Given the description of an element on the screen output the (x, y) to click on. 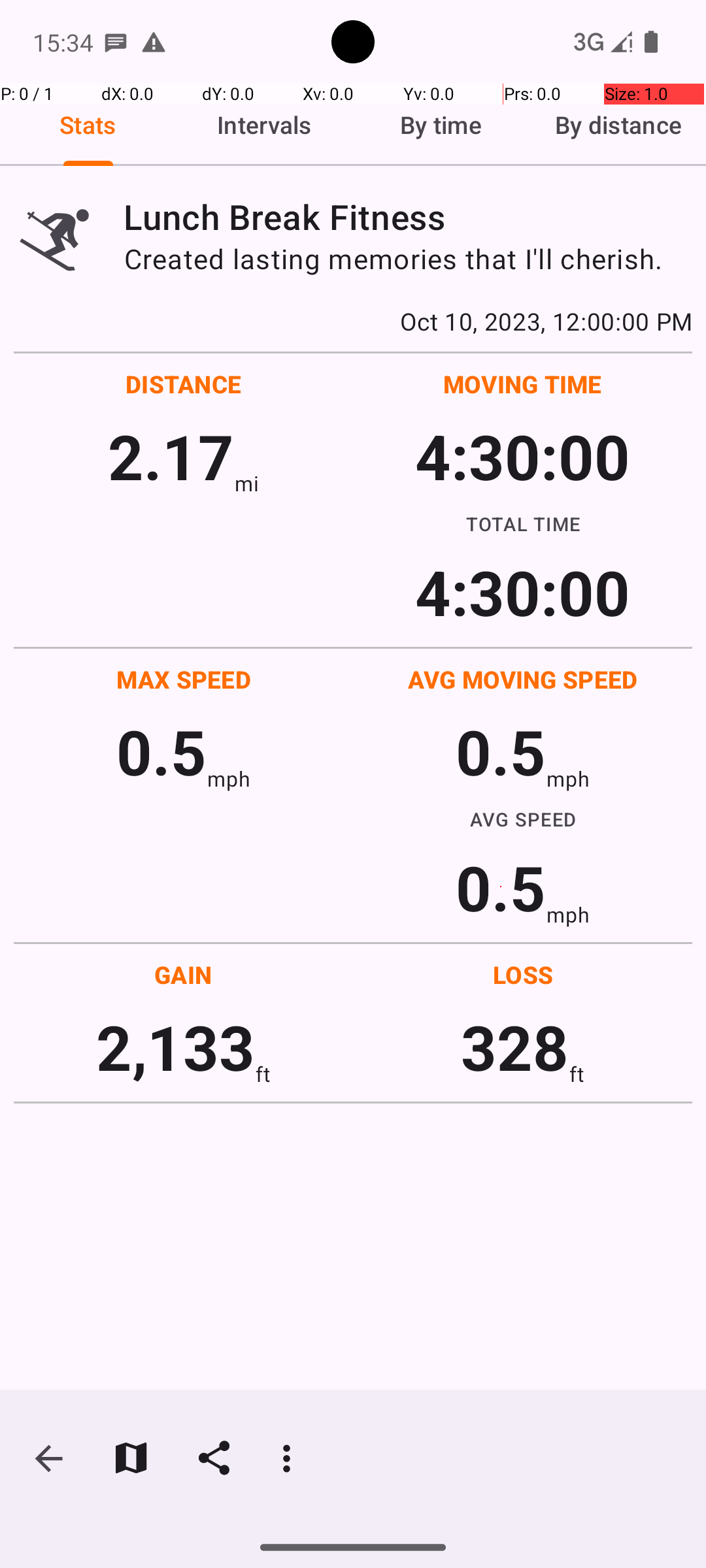
Lunch Break Fitness Element type: android.widget.TextView (407, 216)
Created lasting memories that I'll cherish. Element type: android.widget.TextView (407, 258)
Oct 10, 2023, 12:00:00 PM Element type: android.widget.TextView (352, 320)
2.17 Element type: android.widget.TextView (170, 455)
4:30:00 Element type: android.widget.TextView (522, 455)
0.5 Element type: android.widget.TextView (161, 750)
2,133 Element type: android.widget.TextView (175, 1045)
328 Element type: android.widget.TextView (514, 1045)
